Given the description of an element on the screen output the (x, y) to click on. 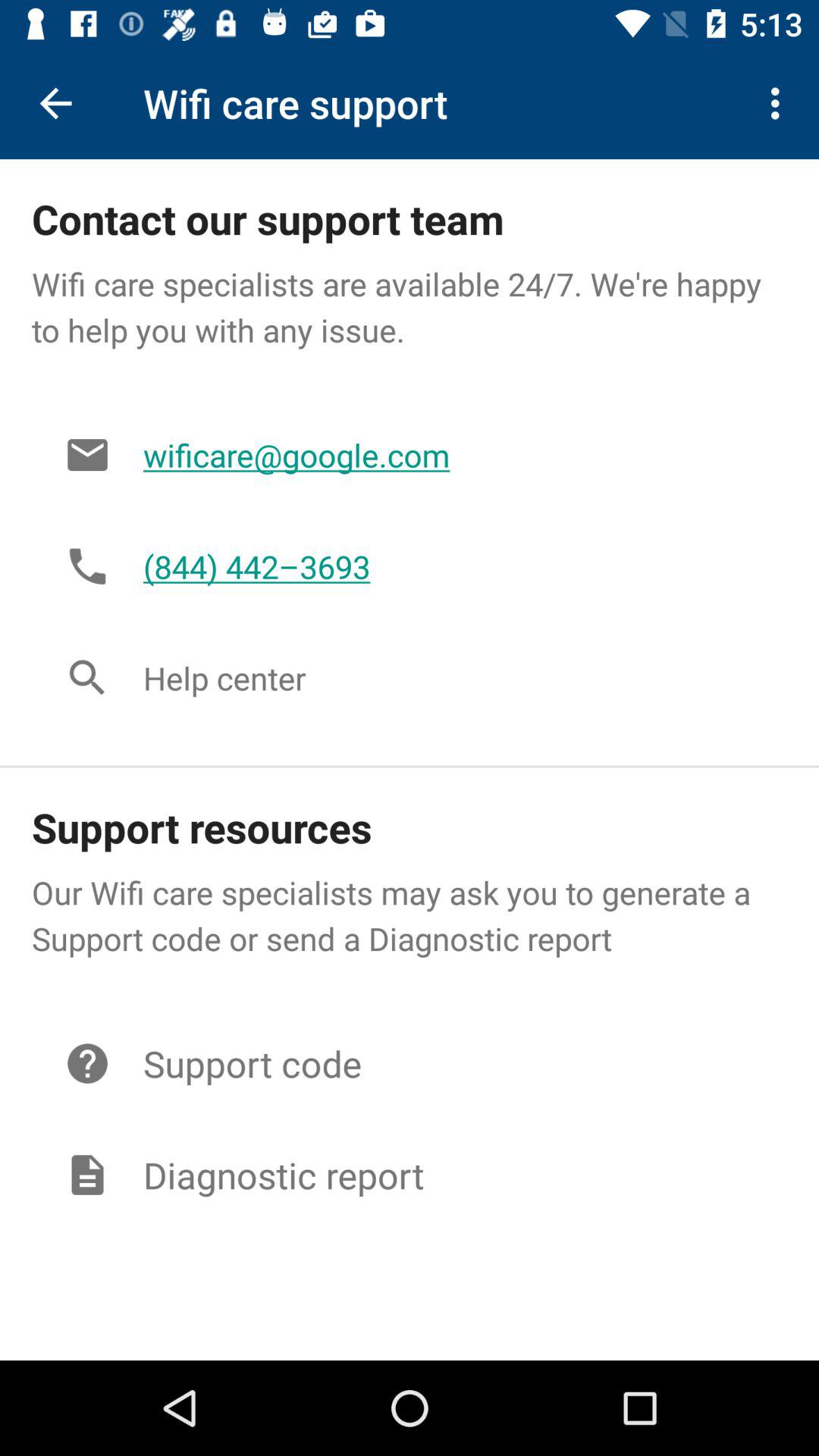
tap icon to the left of the wifi care support icon (55, 103)
